Given the description of an element on the screen output the (x, y) to click on. 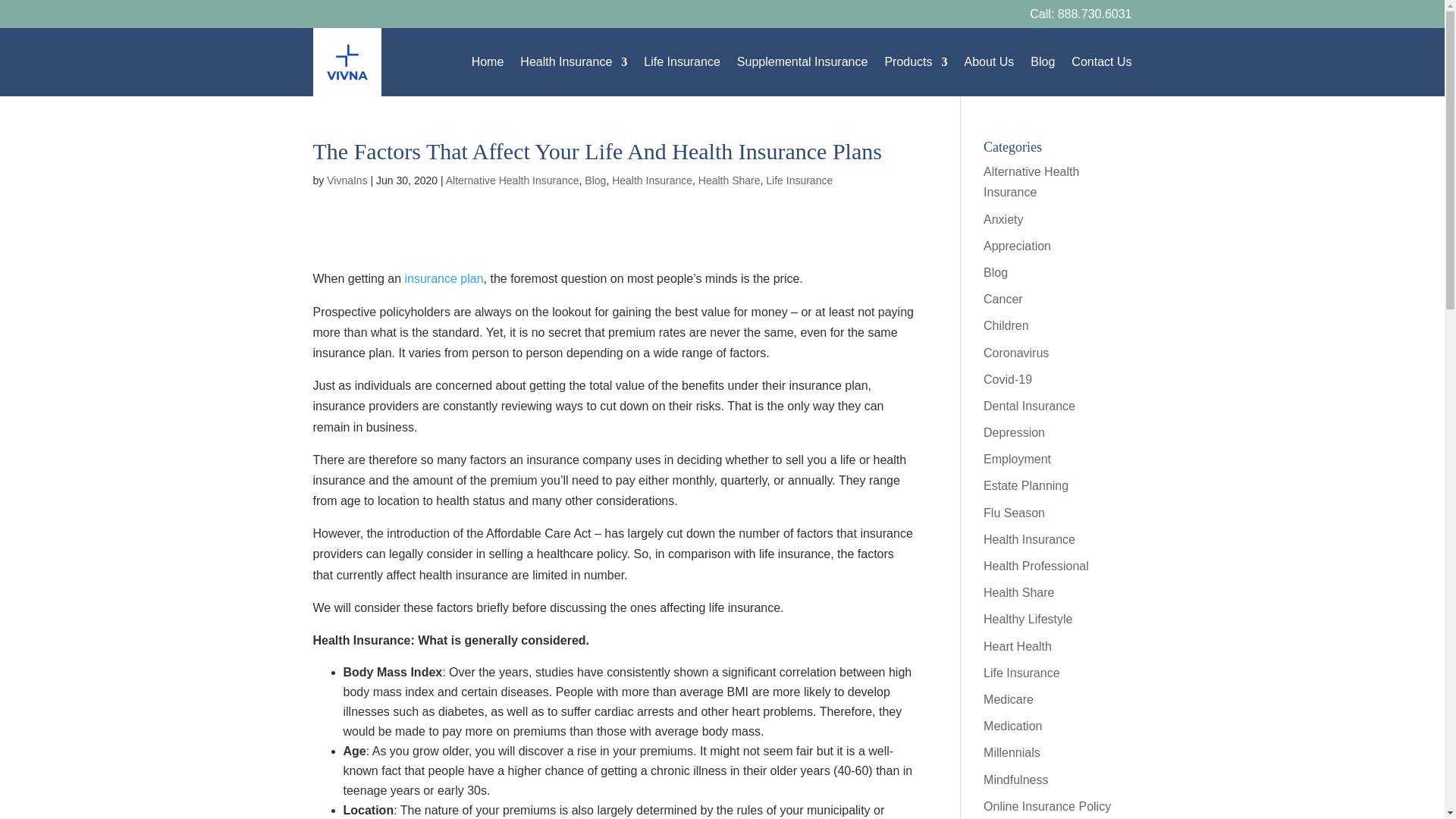
Health Share (729, 180)
Life Insurance (681, 61)
Anxiety (1003, 219)
Products (915, 61)
VivnaIns (346, 180)
Posts by VivnaIns (346, 180)
Blog (1042, 61)
Alternative Health Insurance (1031, 182)
888.730.6031 (1095, 13)
Life Insurance (798, 180)
Blog (595, 180)
insurance plan (443, 278)
Home (487, 61)
Health Insurance (652, 180)
Contact Us (1101, 61)
